Given the description of an element on the screen output the (x, y) to click on. 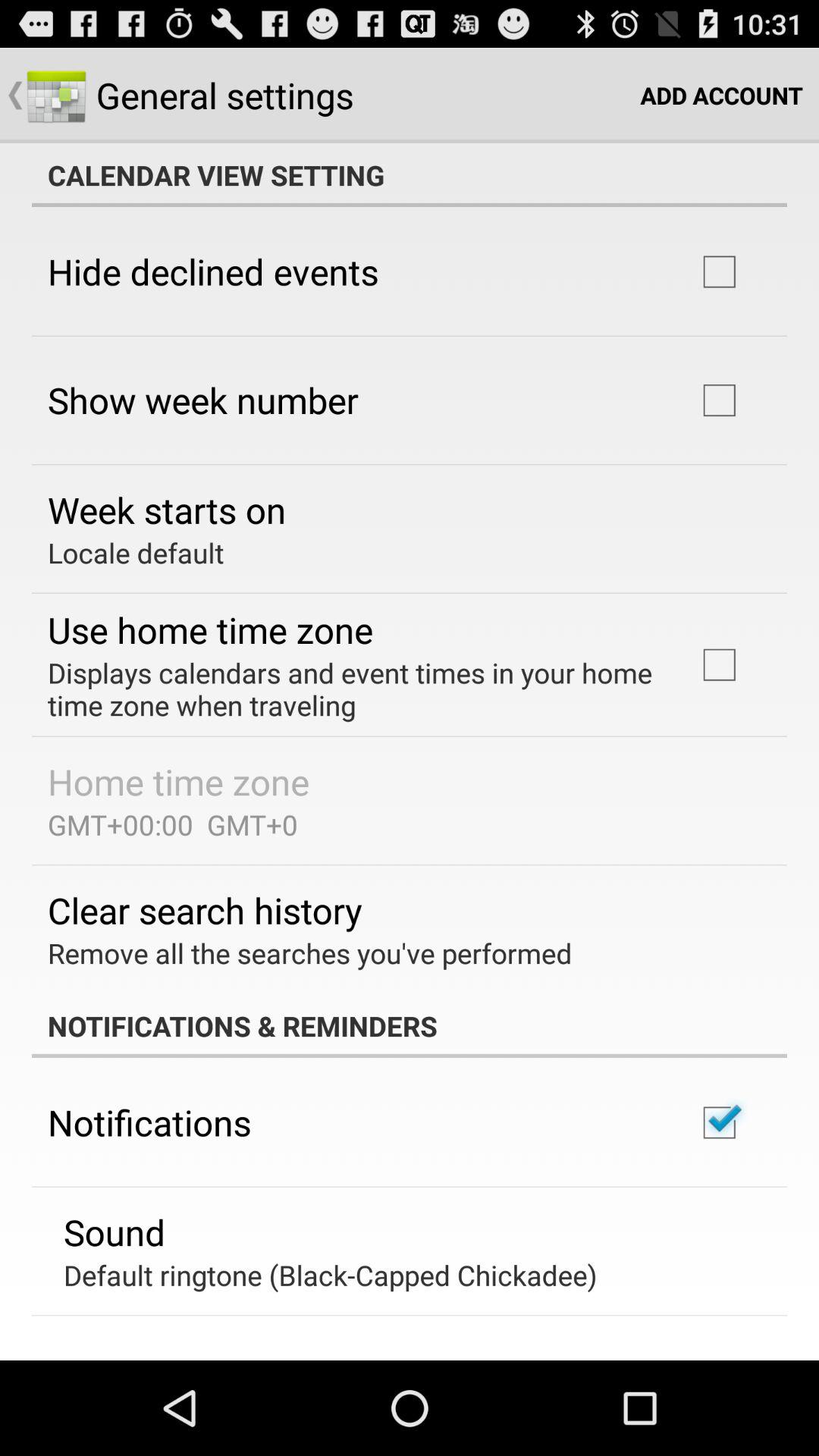
turn on the icon above the calendar view setting icon (721, 95)
